Given the description of an element on the screen output the (x, y) to click on. 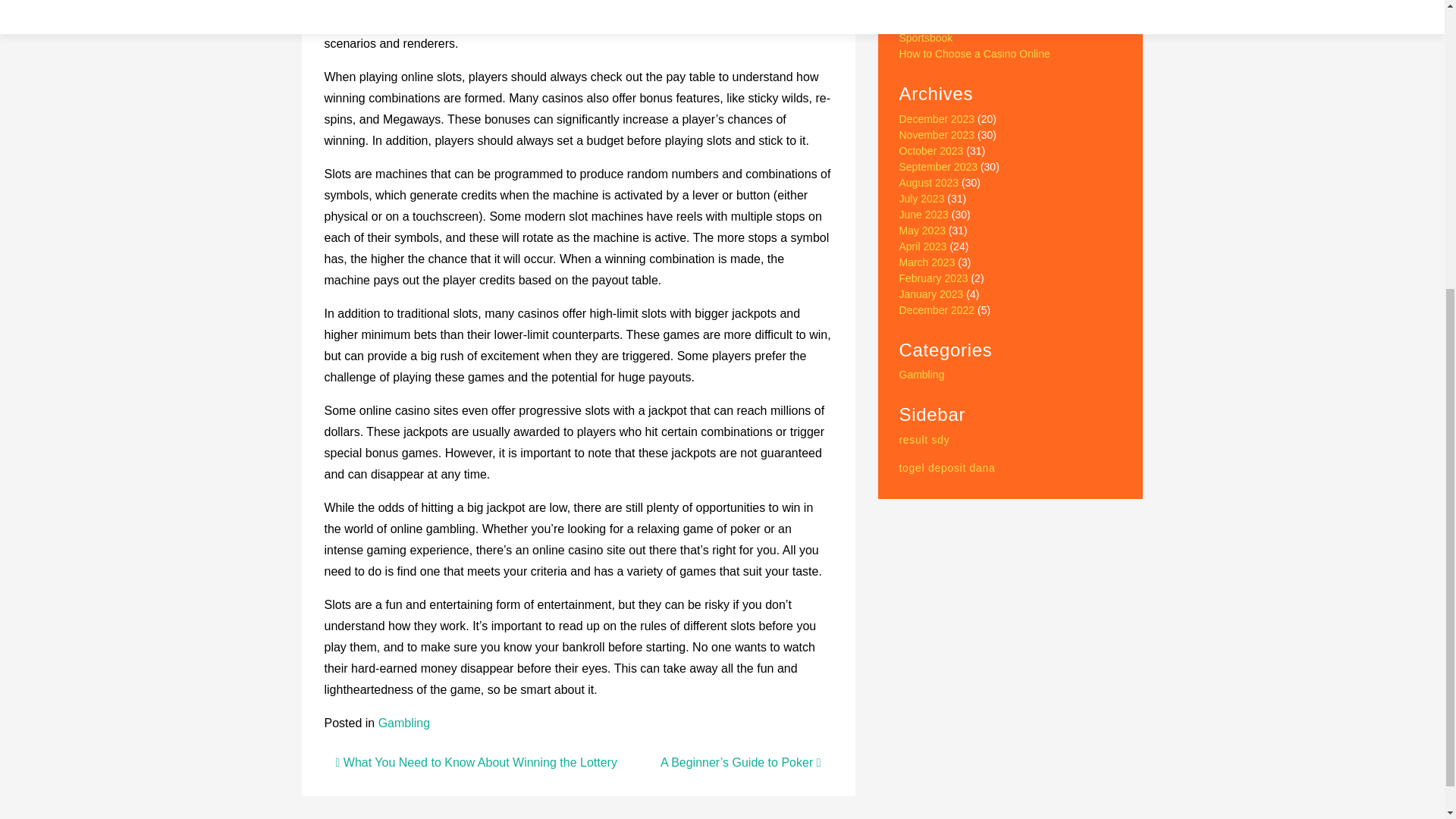
May 2023 (921, 230)
 What You Need to Know About Winning the Lottery (474, 762)
October 2023 (931, 150)
Avoid These Mistakes When Betting at a Sportsbook (994, 29)
The Facts About the Lottery (964, 6)
August 2023 (929, 182)
September 2023 (938, 166)
June 2023 (924, 214)
result sdy (924, 439)
January 2023 (931, 294)
